Given the description of an element on the screen output the (x, y) to click on. 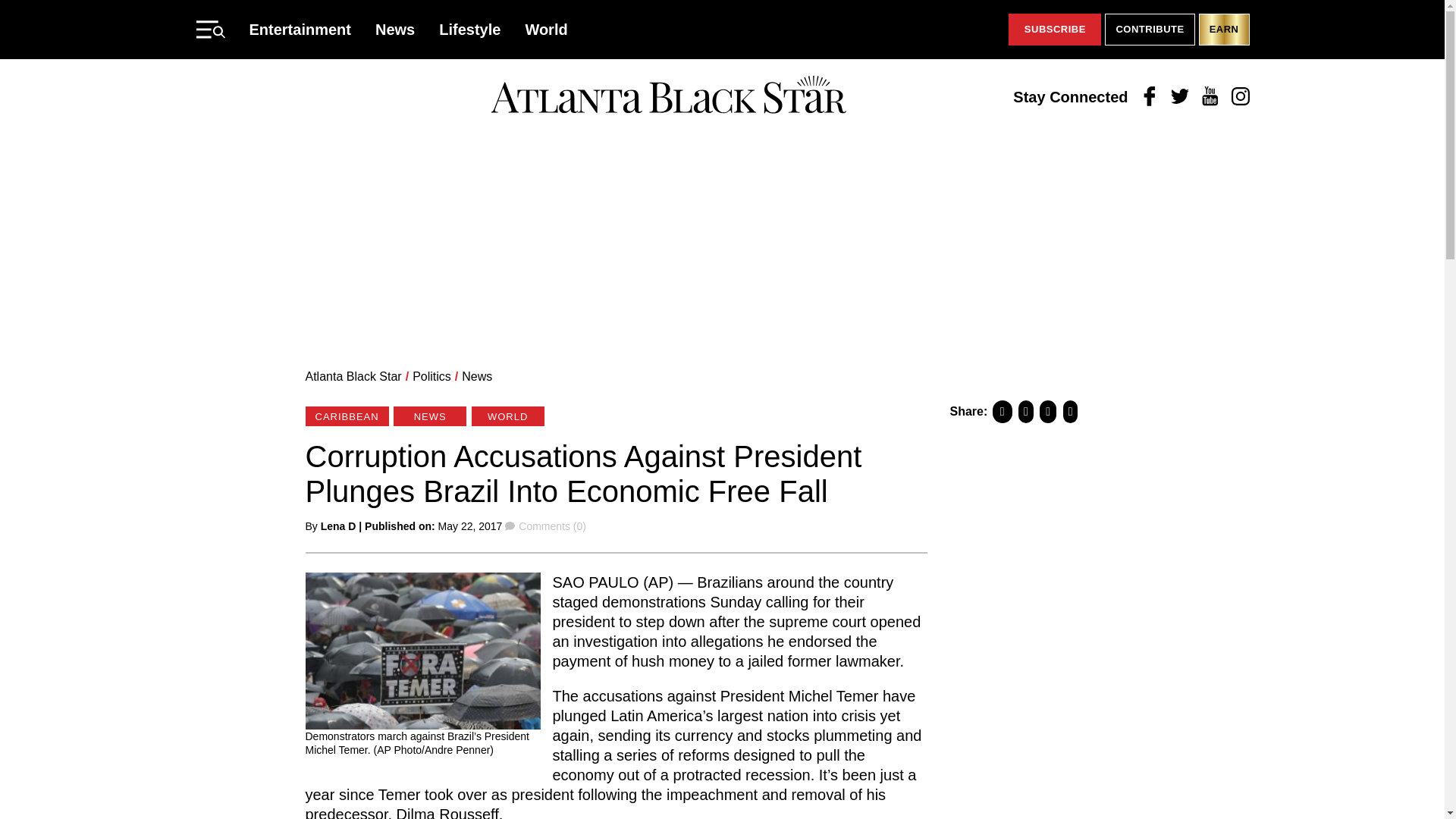
World (545, 29)
Go to the News Category archives. (476, 376)
EARN (1223, 29)
News (394, 29)
Lifestyle (469, 29)
Go to Atlanta Black Star. (352, 376)
Atlanta Black Star (667, 96)
CONTRIBUTE (1149, 29)
Entertainment (299, 29)
Politics (431, 376)
Atlanta Black Star (352, 376)
Go to the Politics Category archives. (431, 376)
SUBSCRIBE (1054, 29)
